Given the description of an element on the screen output the (x, y) to click on. 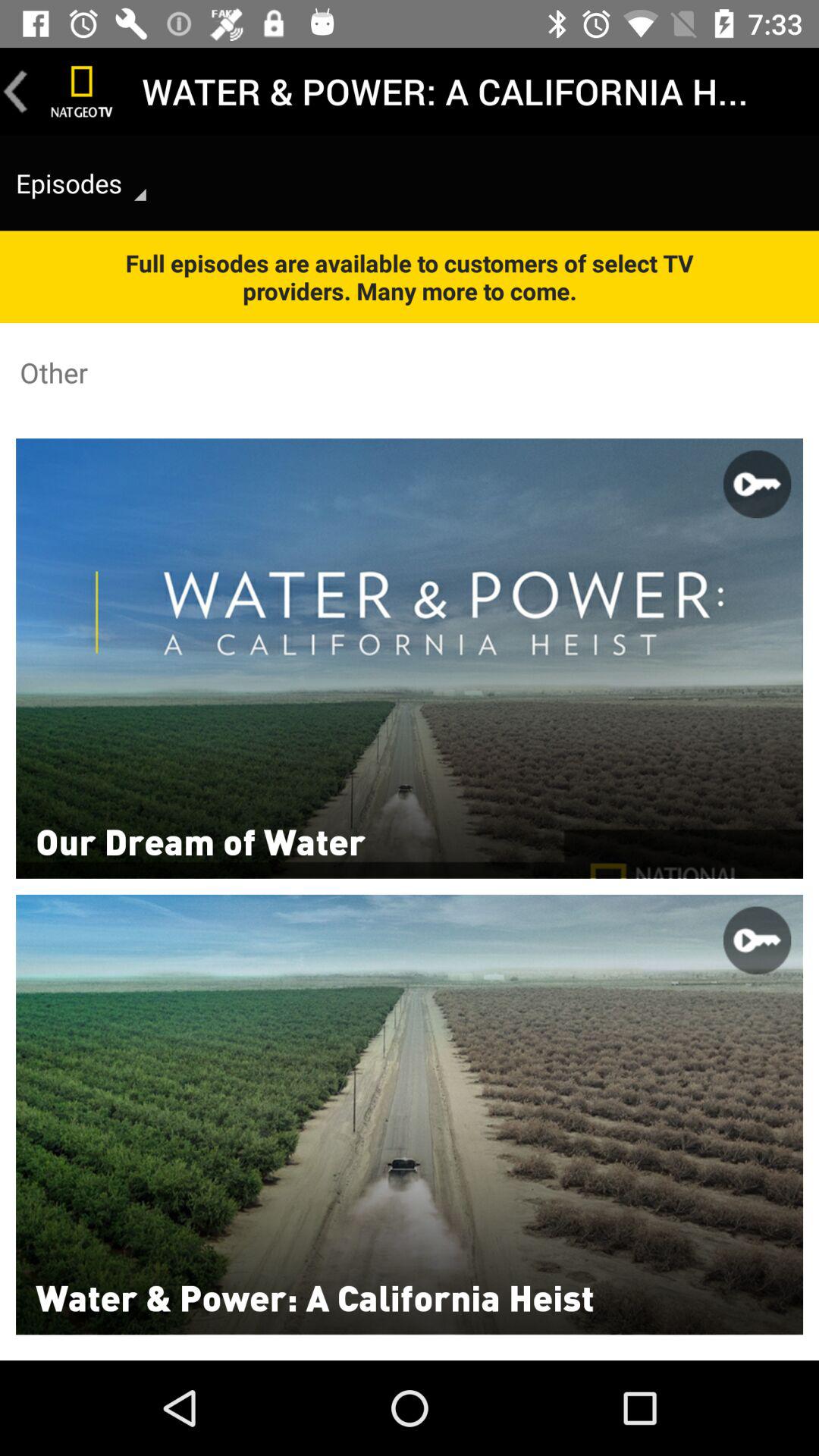
go to nat geo tv (81, 91)
